Given the description of an element on the screen output the (x, y) to click on. 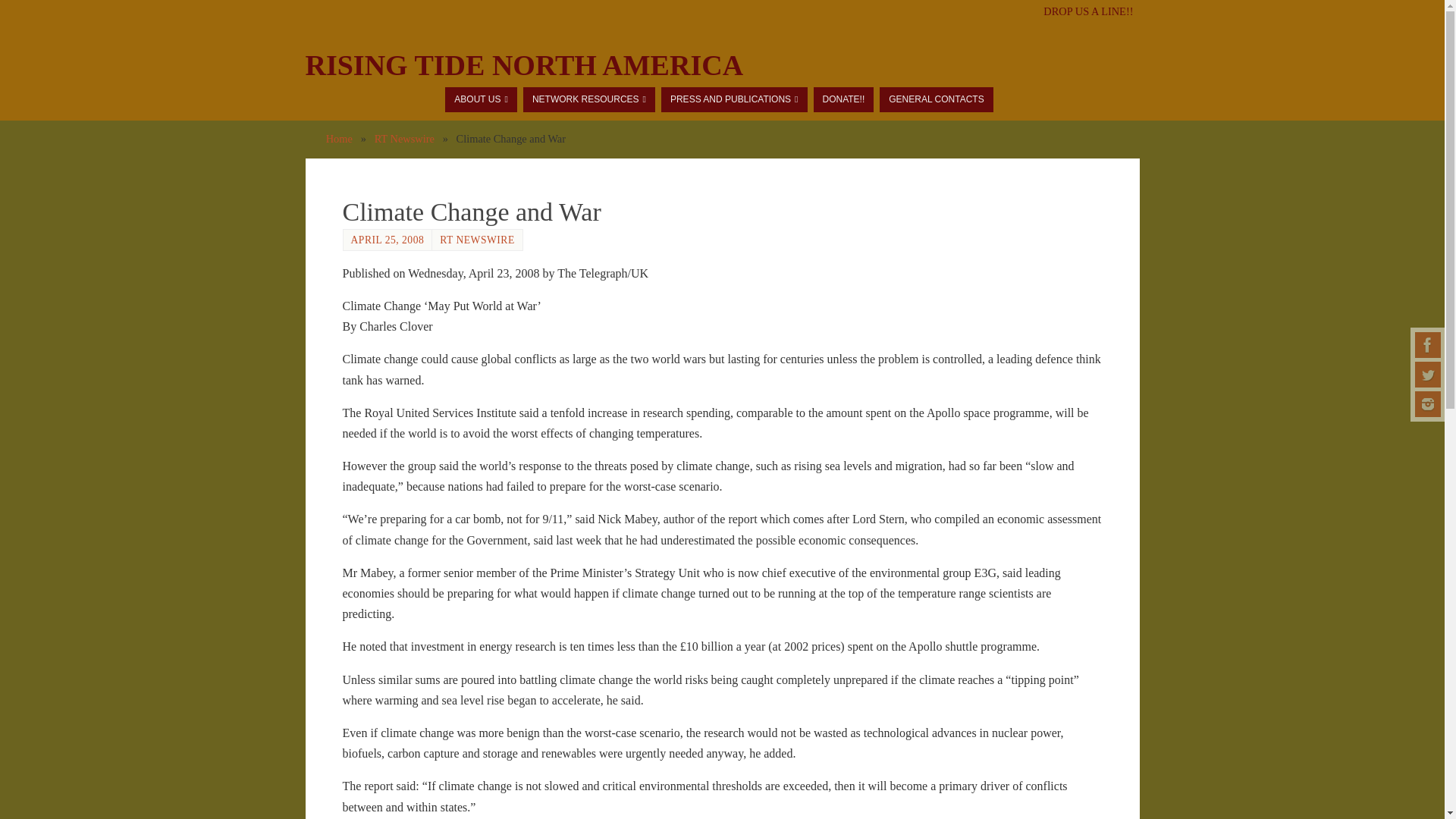
Home (339, 138)
DROP US A LINE!! (1088, 11)
NETWORK RESOURCES (588, 98)
Facebook (1428, 344)
ABOUT US (480, 98)
PRESS AND PUBLICATIONS (734, 98)
RISING TIDE NORTH AMERICA (523, 64)
Twitter (1428, 374)
RT Newswire (403, 138)
Instagram (1428, 403)
DONATE!! (842, 98)
GENERAL CONTACTS (935, 98)
Rising Tide North America (523, 64)
APRIL 25, 2008 (386, 239)
RT NEWSWIRE (476, 239)
